Given the description of an element on the screen output the (x, y) to click on. 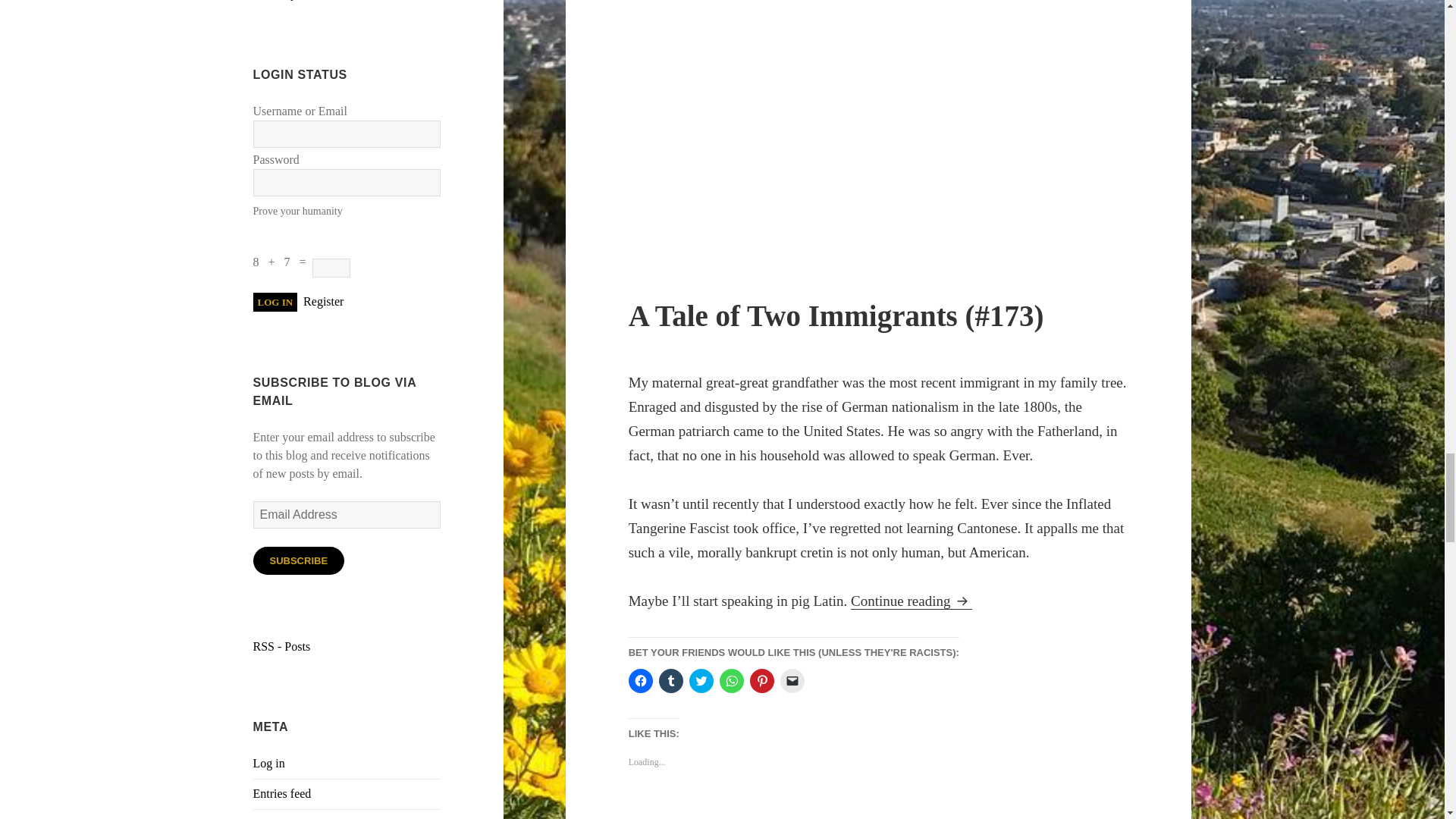
log in (275, 302)
Subscribe to posts (282, 645)
